Given the description of an element on the screen output the (x, y) to click on. 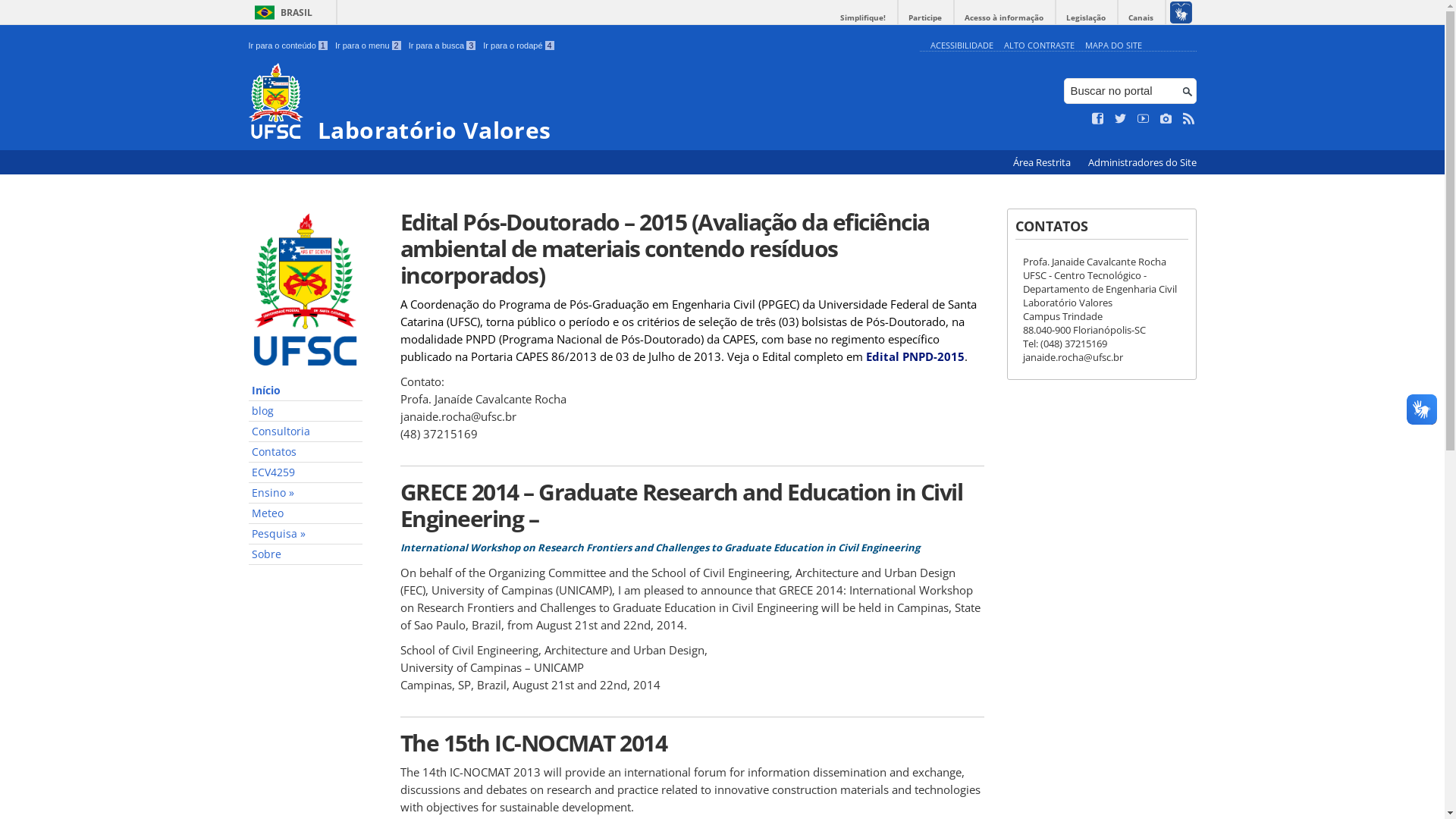
ALTO CONTRASTE Element type: text (1039, 44)
MAPA DO SITE Element type: text (1112, 44)
ECV4259 Element type: text (305, 472)
Siga no Twitter Element type: hover (1120, 118)
Ir para a busca 3 Element type: text (442, 45)
Administradores do Site Element type: text (1141, 162)
BRASIL Element type: text (280, 12)
Meteo Element type: text (305, 513)
The 15th IC-NOCMAT 2014 Element type: text (692, 742)
Consultoria Element type: text (305, 431)
Canais Element type: text (1140, 18)
Ir para o menu 2 Element type: text (368, 45)
Curta no Facebook Element type: hover (1098, 118)
Edital PNPD-2015 Element type: text (915, 356)
blog Element type: text (305, 411)
Participe Element type: text (924, 18)
Simplifique! Element type: text (862, 18)
Contatos Element type: text (305, 452)
Sobre Element type: text (305, 554)
ACESSIBILIDADE Element type: text (960, 44)
Veja no Instagram Element type: hover (1166, 118)
